Given the description of an element on the screen output the (x, y) to click on. 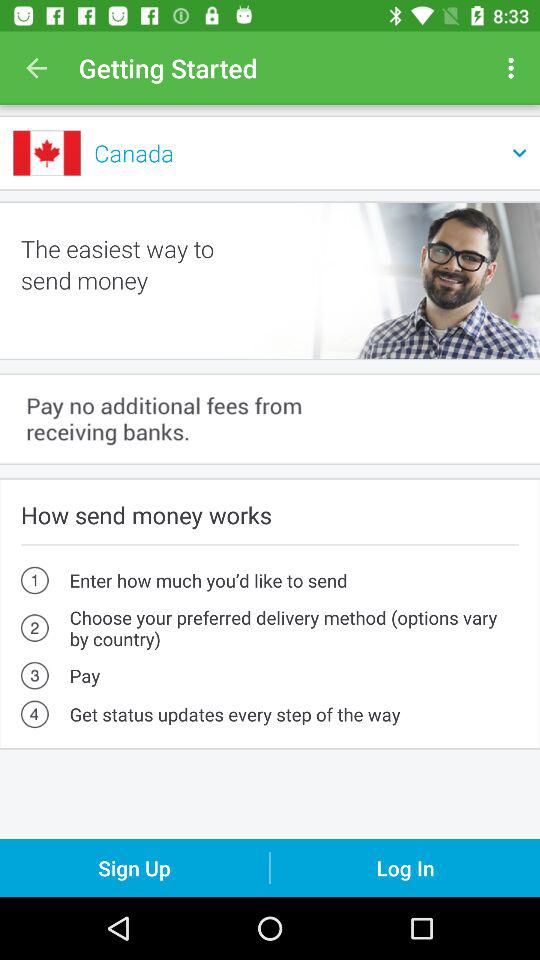
jump until the log in icon (405, 867)
